Given the description of an element on the screen output the (x, y) to click on. 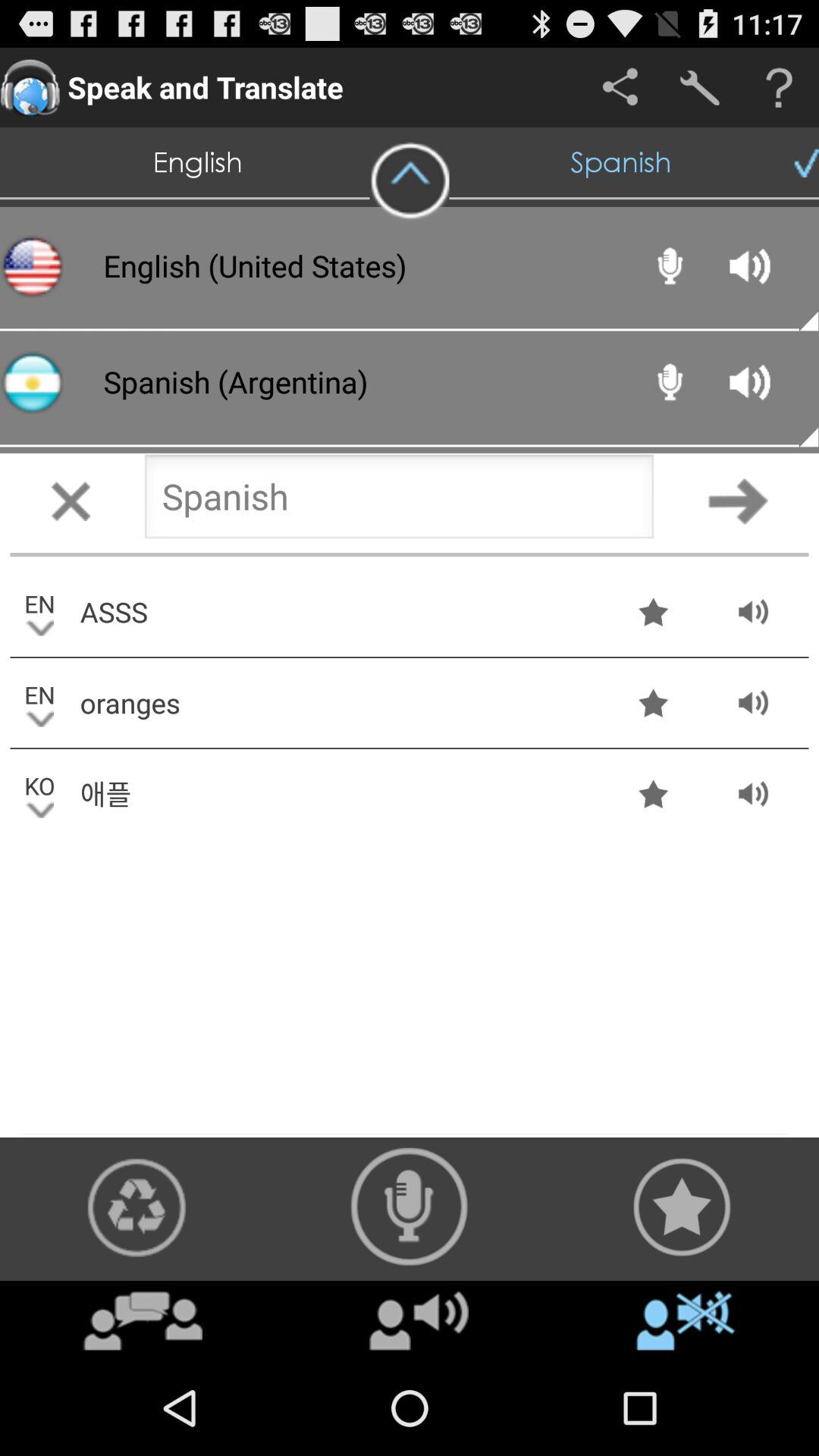
turn on the icon next to english (409, 181)
